Given the description of an element on the screen output the (x, y) to click on. 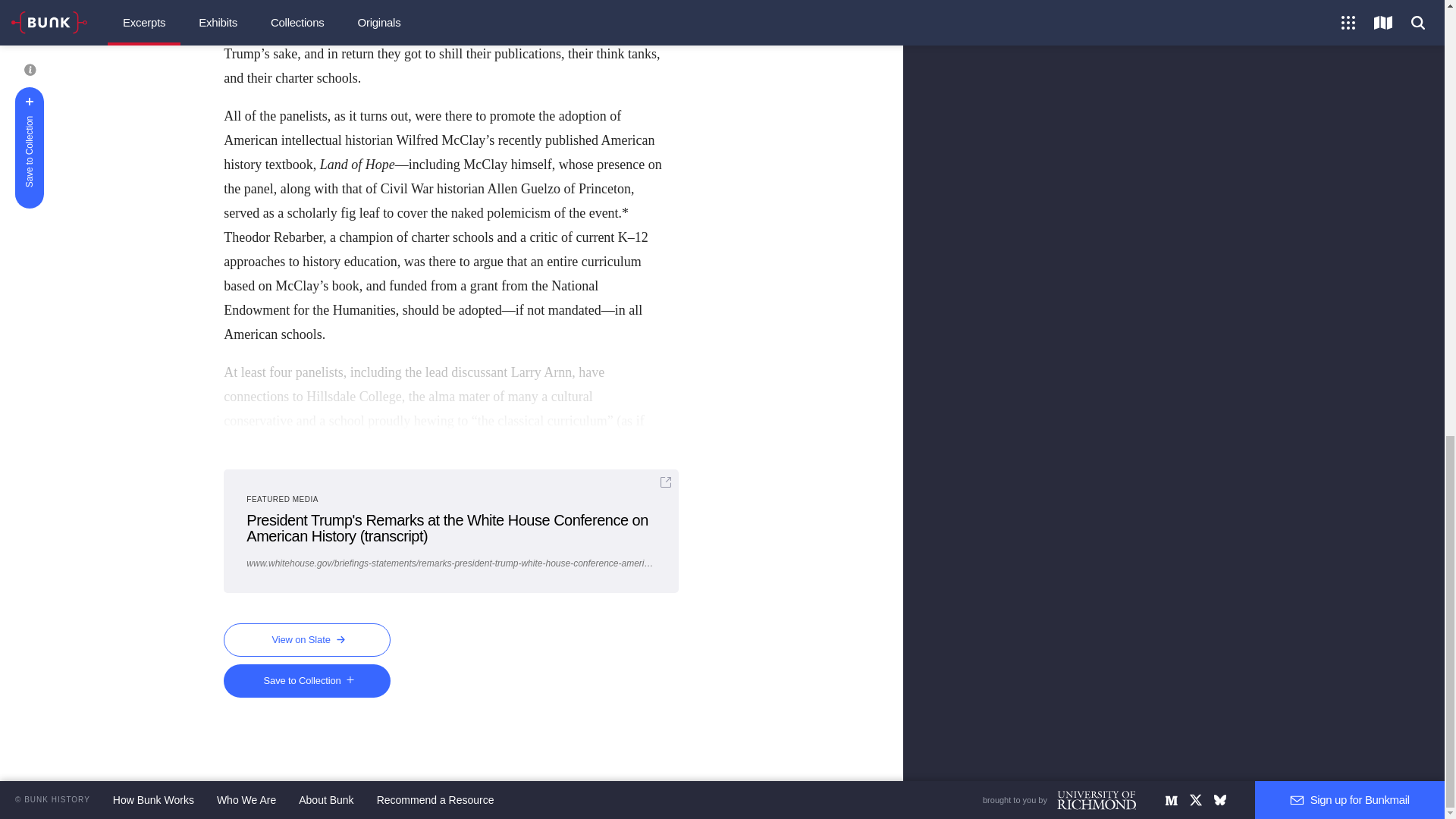
Bunk on Bluesky (1219, 799)
Bunk on Twitter (1196, 799)
Save to Collection (307, 680)
View on Slate (307, 639)
Bunk on Medium (1171, 799)
